Given the description of an element on the screen output the (x, y) to click on. 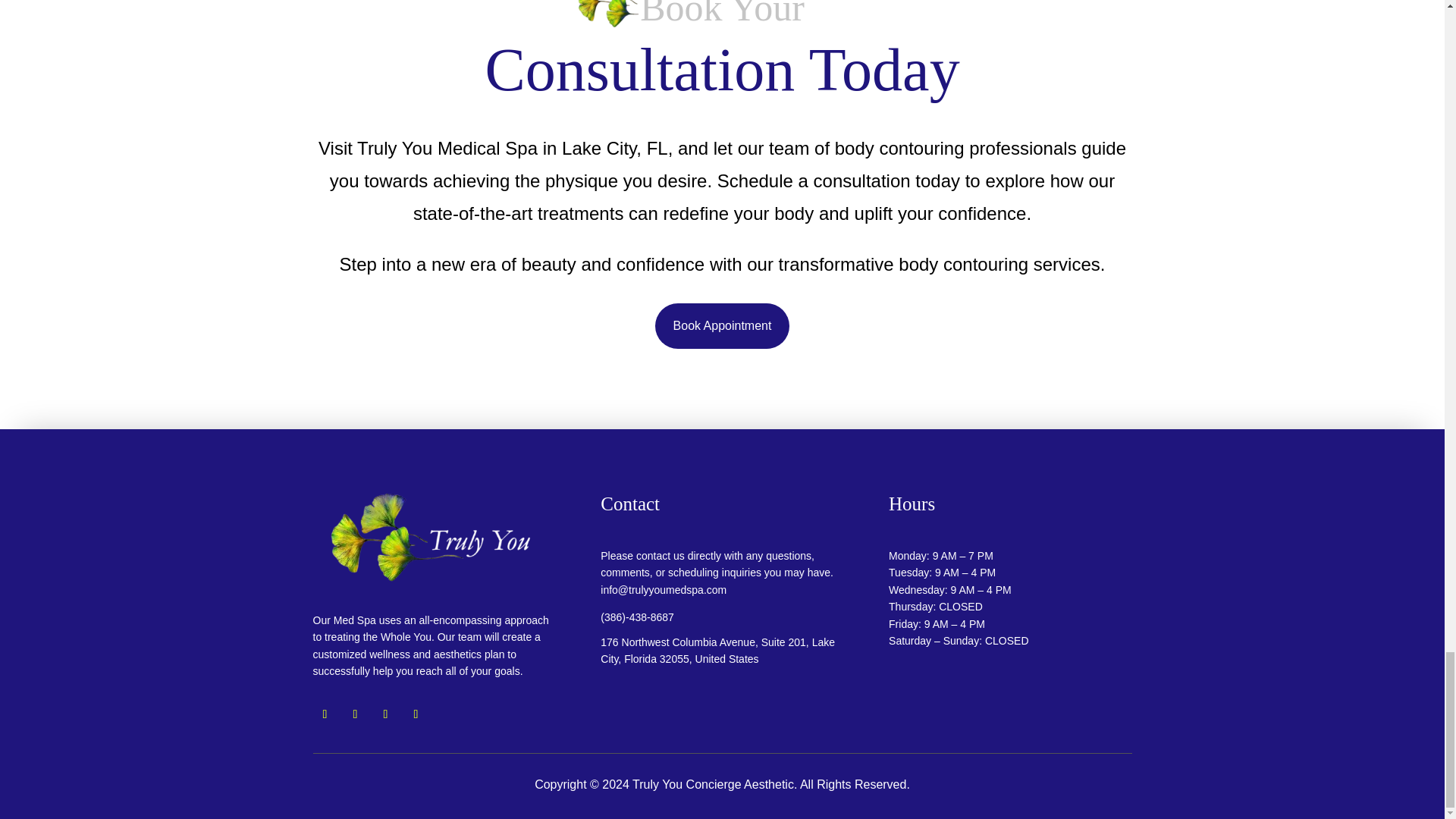
Follow on Instagram (354, 713)
Follow on Facebook (324, 713)
Follow on TikTok (384, 713)
Follow on Yelp (415, 713)
